Given the description of an element on the screen output the (x, y) to click on. 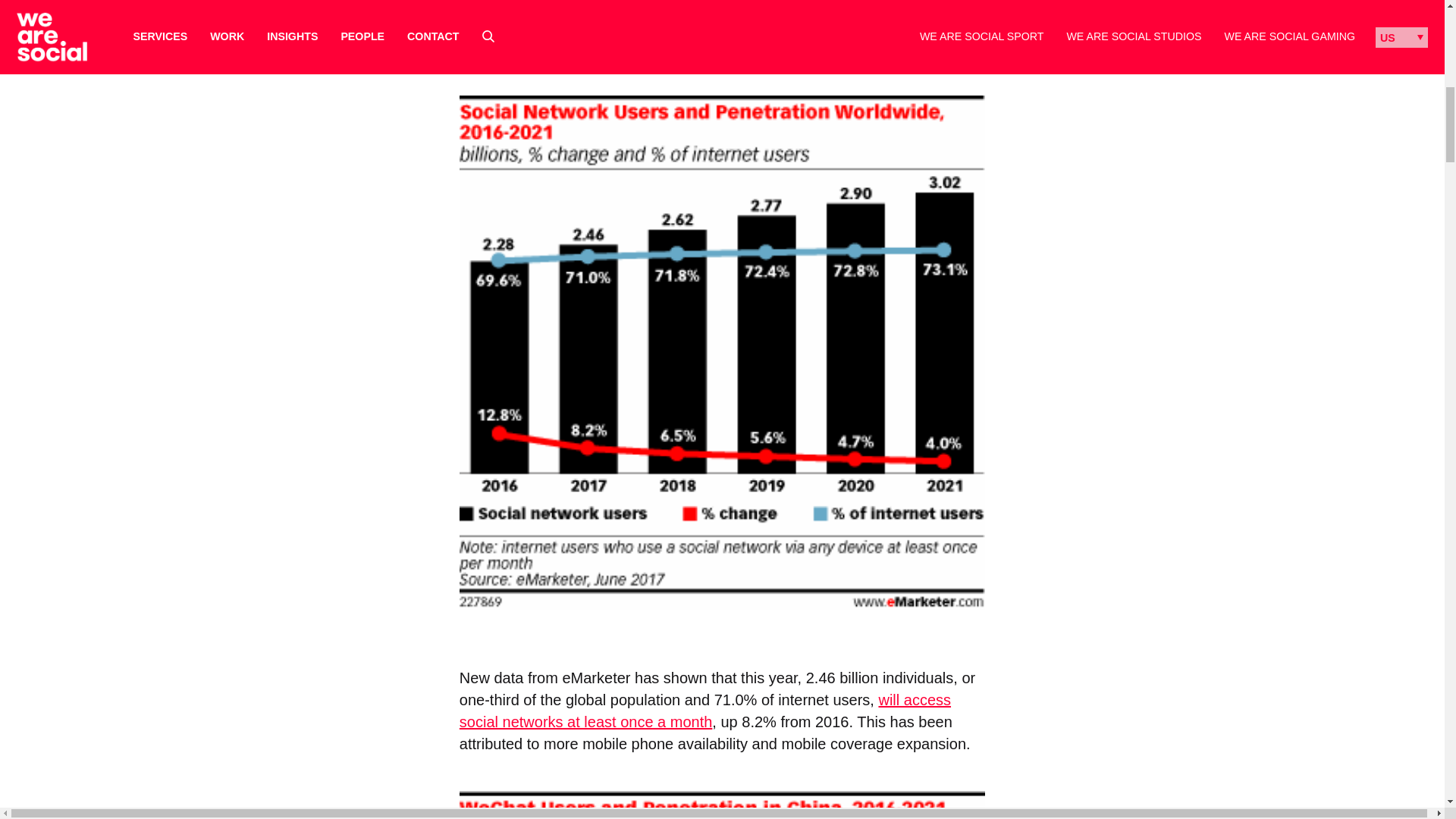
will access social networks at least once a month (705, 710)
